Given the description of an element on the screen output the (x, y) to click on. 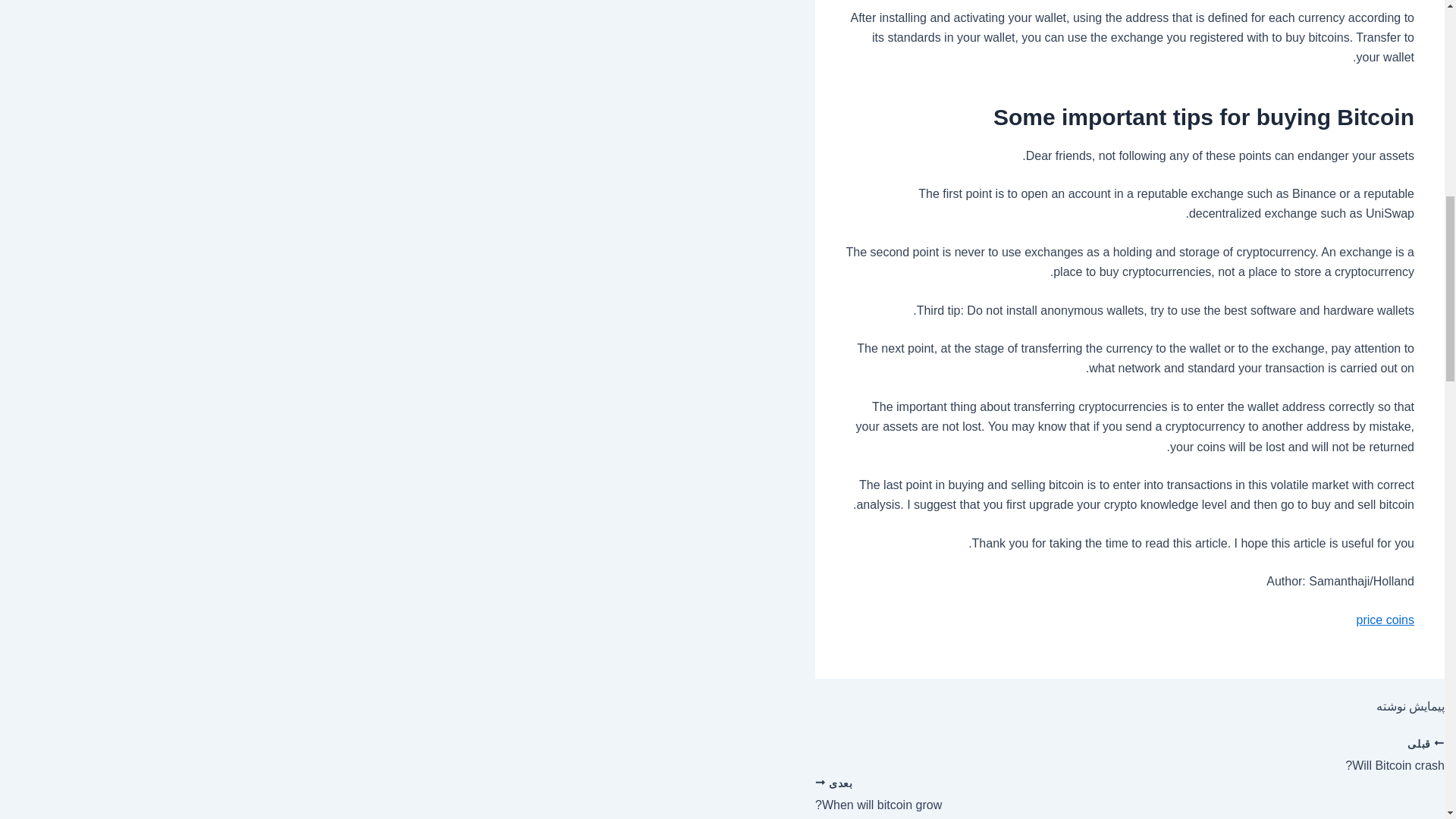
price coins (1384, 619)
